Given the description of an element on the screen output the (x, y) to click on. 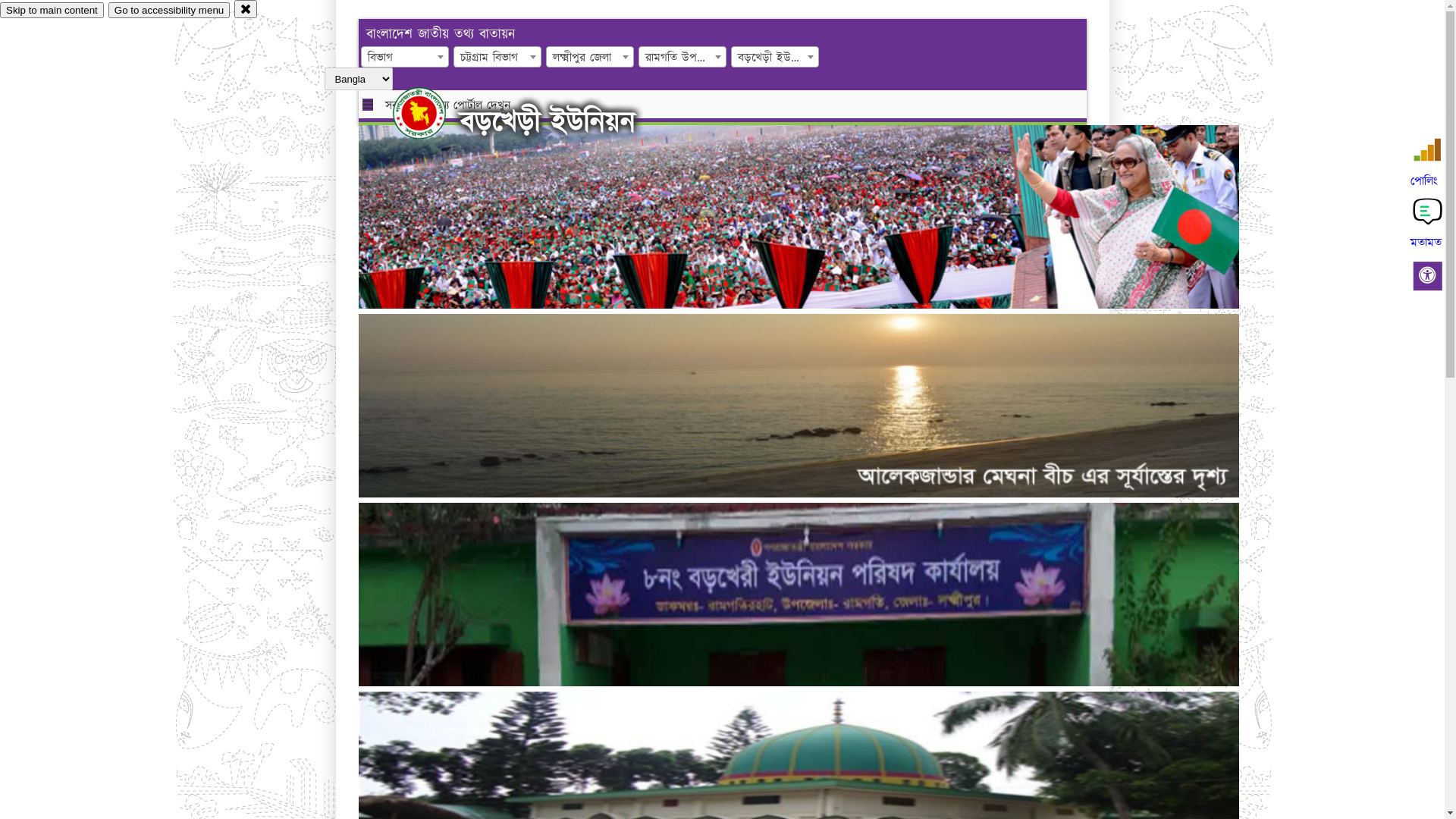

                
             Element type: hover (431, 112)
close Element type: hover (245, 9)
Go to accessibility menu Element type: text (168, 10)
Skip to main content Element type: text (51, 10)
